Given the description of an element on the screen output the (x, y) to click on. 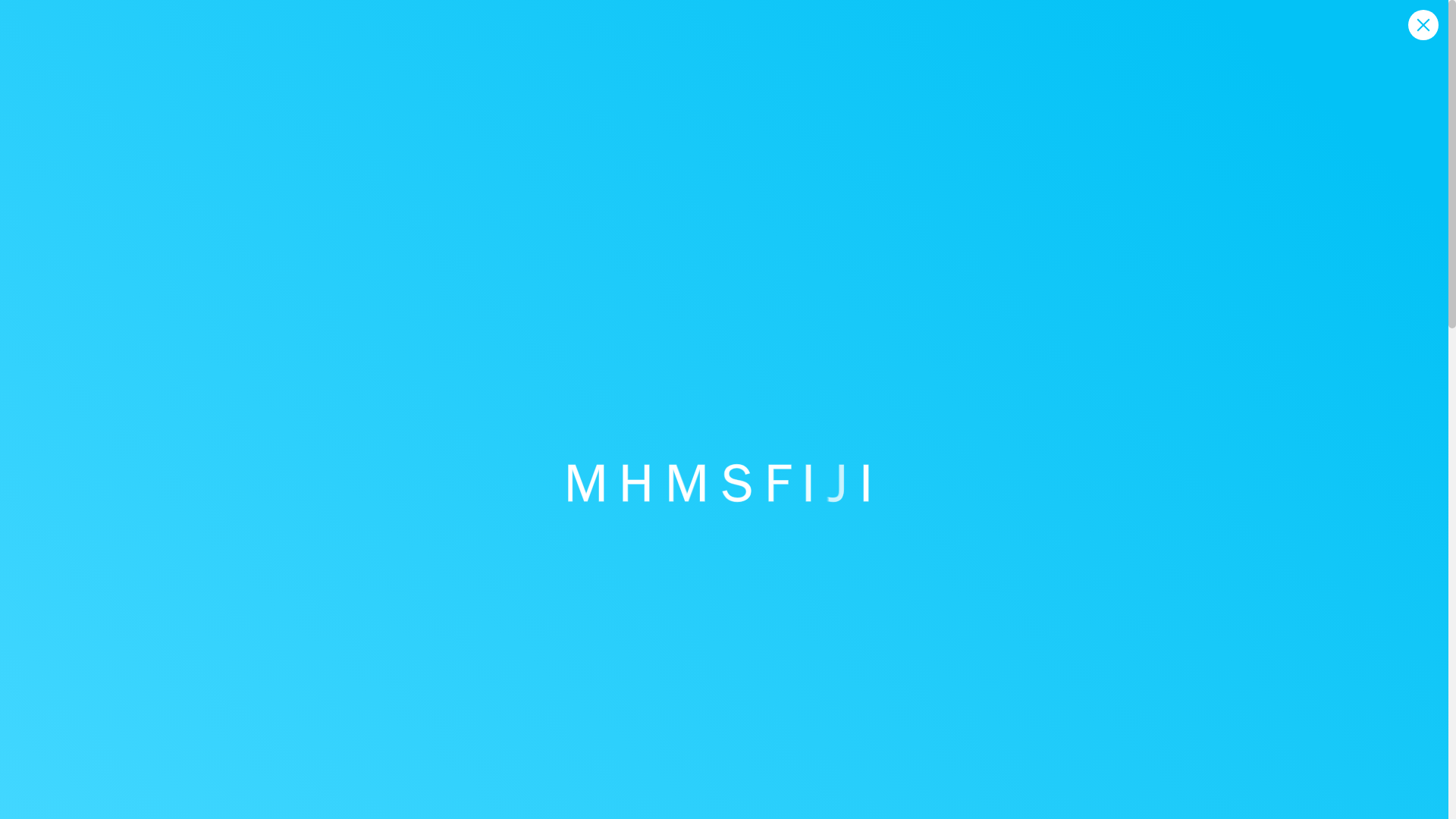
MHMS FIJI (70, 393)
Your Health (357, 395)
Search (1157, 759)
Your Health (357, 395)
Search (1157, 759)
